Given the description of an element on the screen output the (x, y) to click on. 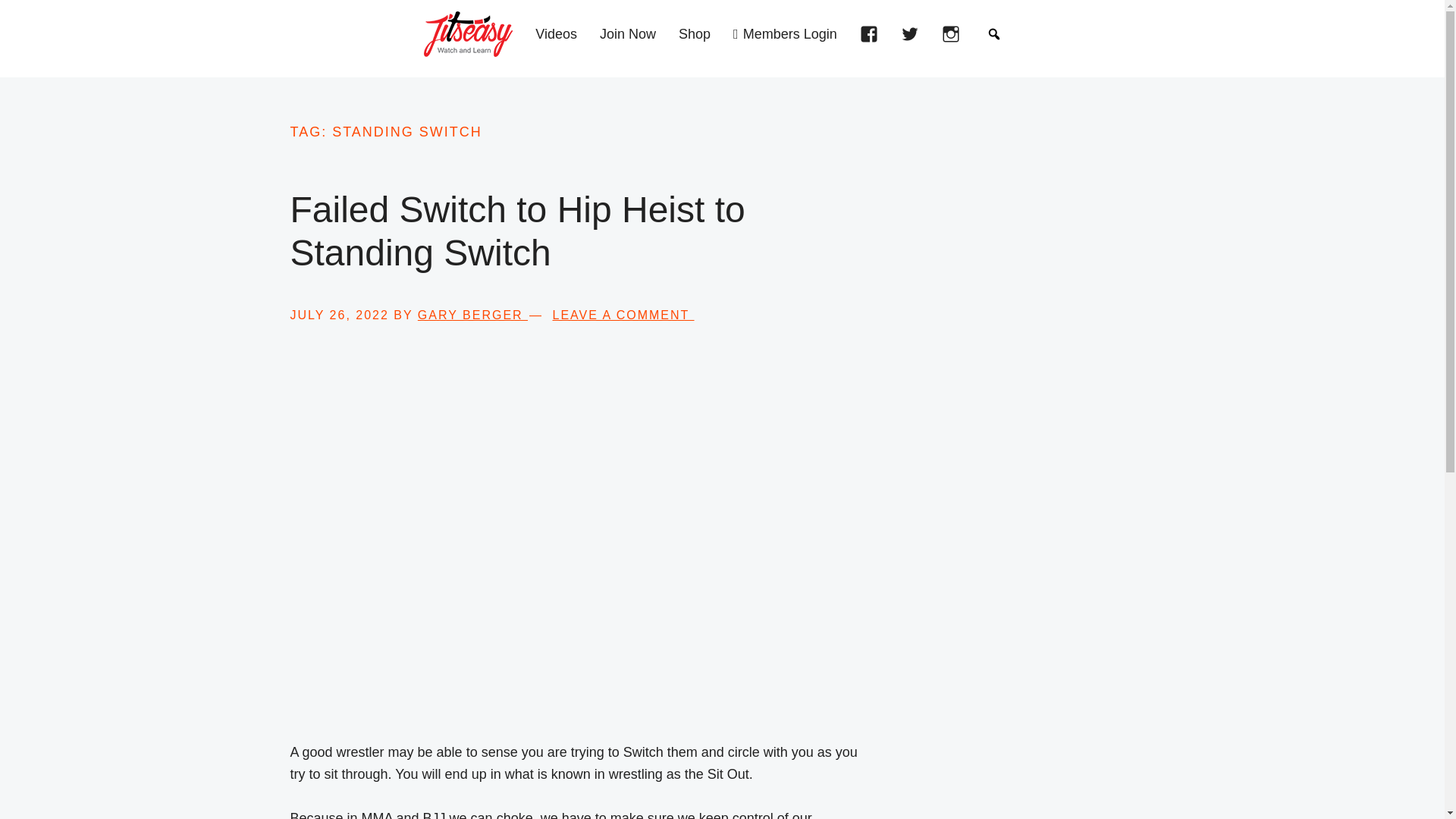
LEAVE A COMMENT (623, 314)
Join Now (631, 38)
Members Login (788, 38)
Shop (697, 38)
Videos (560, 38)
Failed Switch to Hip Heist to Standing Switch (516, 231)
GARY BERGER (472, 314)
